Given the description of an element on the screen output the (x, y) to click on. 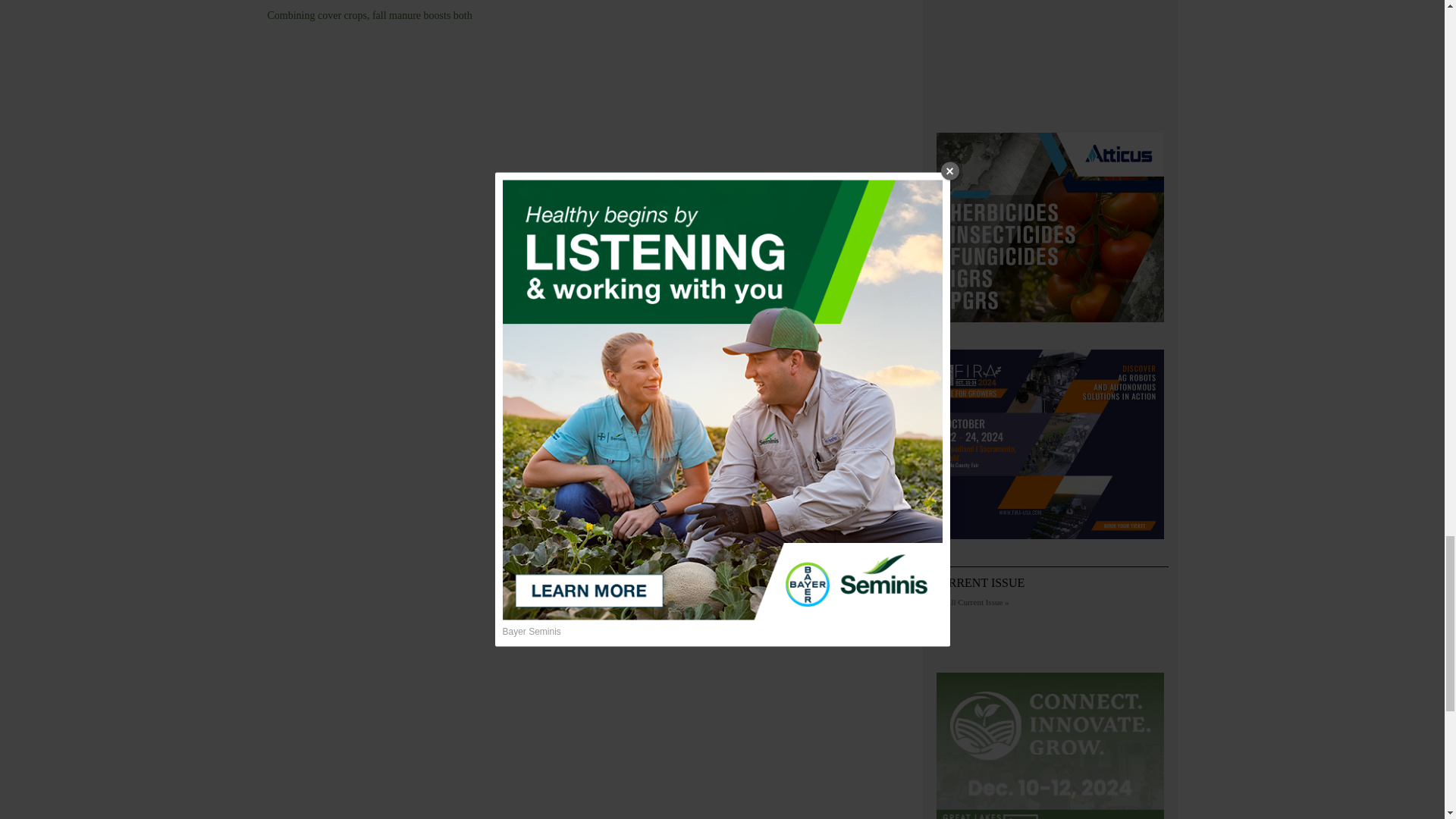
Atticus (1049, 229)
Great Lakes EXPO (1049, 745)
FIRA 2024 (1049, 446)
